Given the description of an element on the screen output the (x, y) to click on. 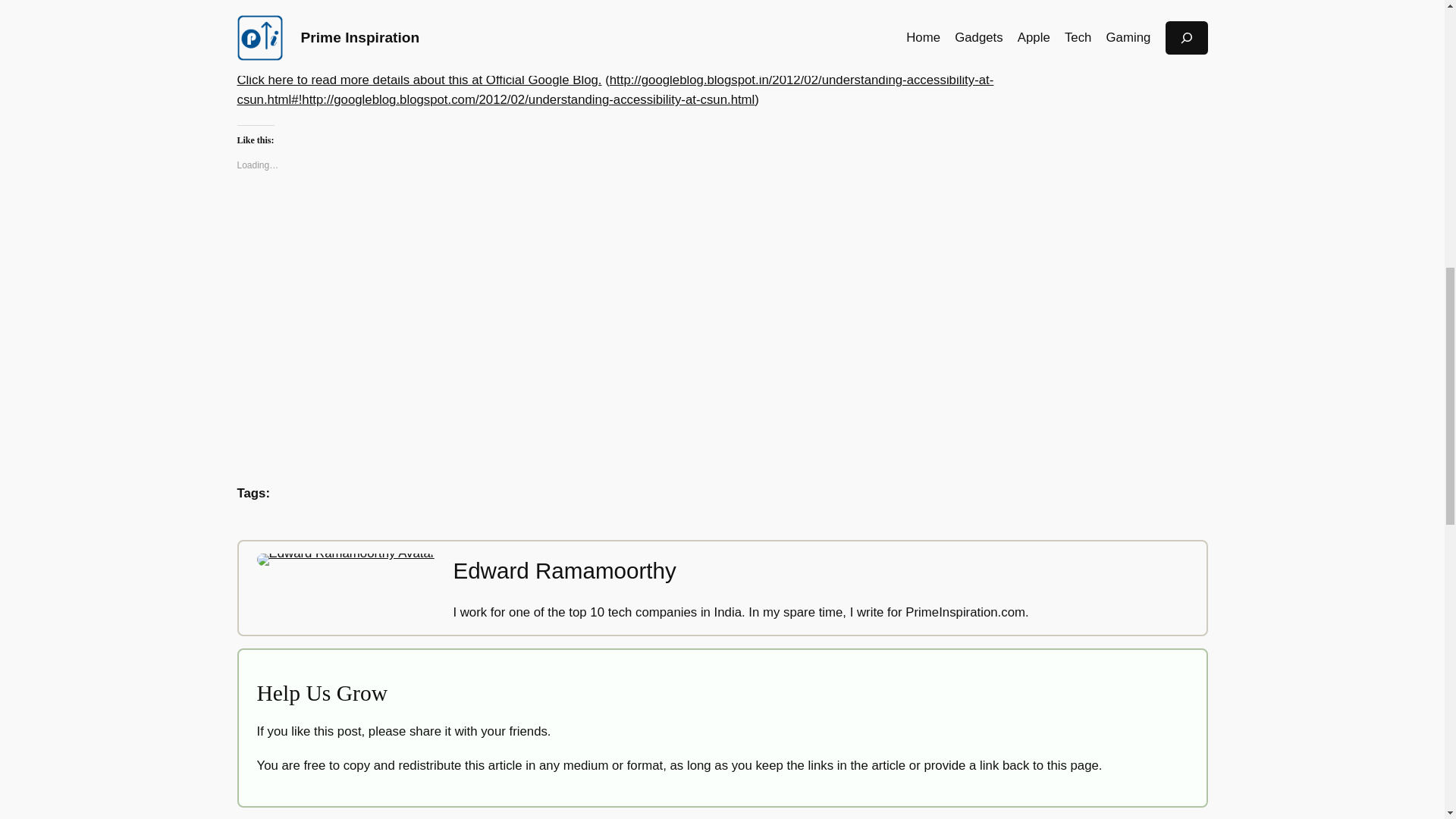
Google Official Blog (418, 79)
Google Official Blog (613, 89)
Edward Ramamoorthy (563, 570)
